Given the description of an element on the screen output the (x, y) to click on. 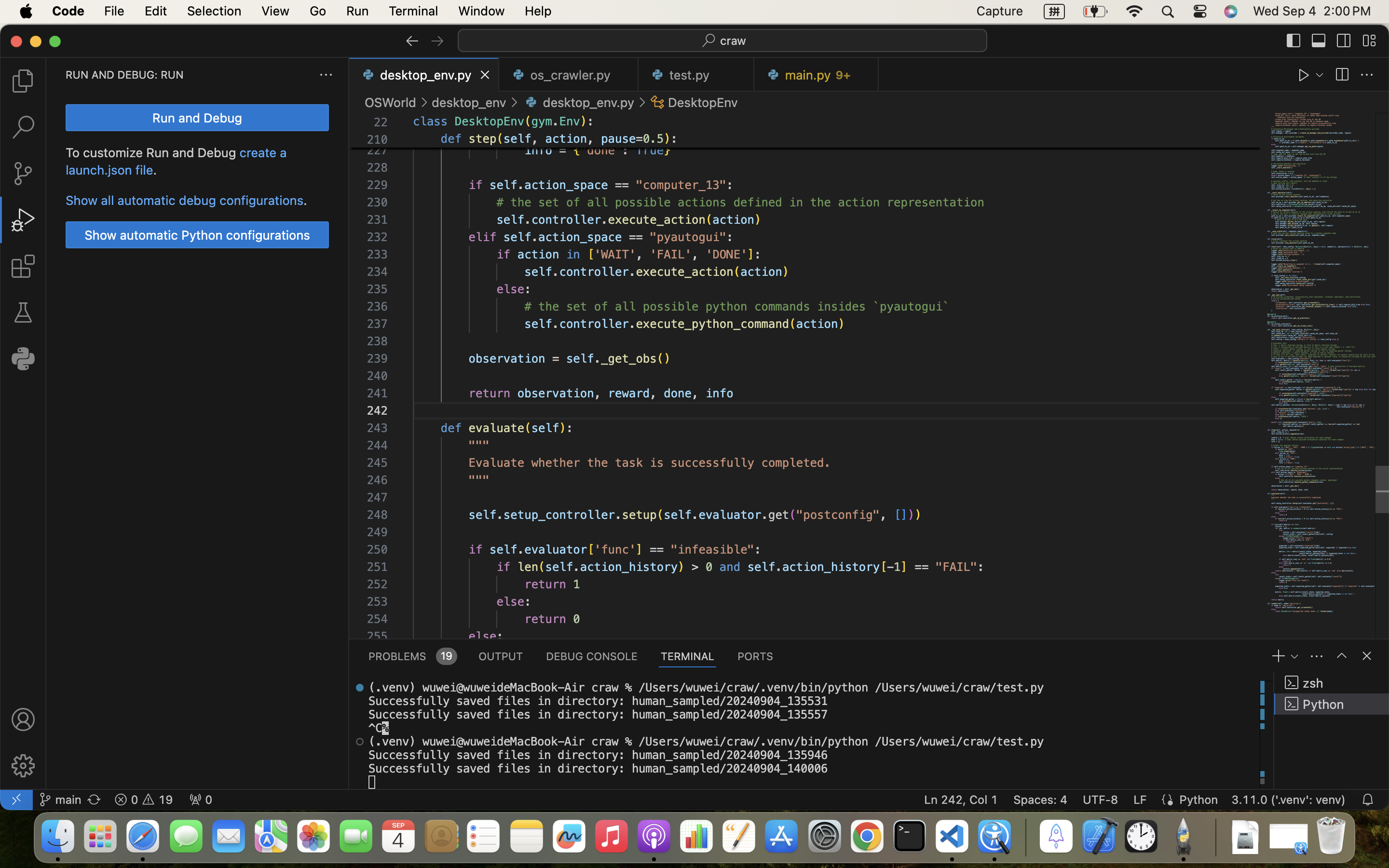
 Element type: AXButton (437, 40)
 Element type: AXStaticText (657, 101)
RUN AND DEBUG: RUN Element type: AXStaticText (124, 74)
desktop_env Element type: AXGroup (469, 101)
0 PORTS Element type: AXRadioButton (755, 655)
